Given the description of an element on the screen output the (x, y) to click on. 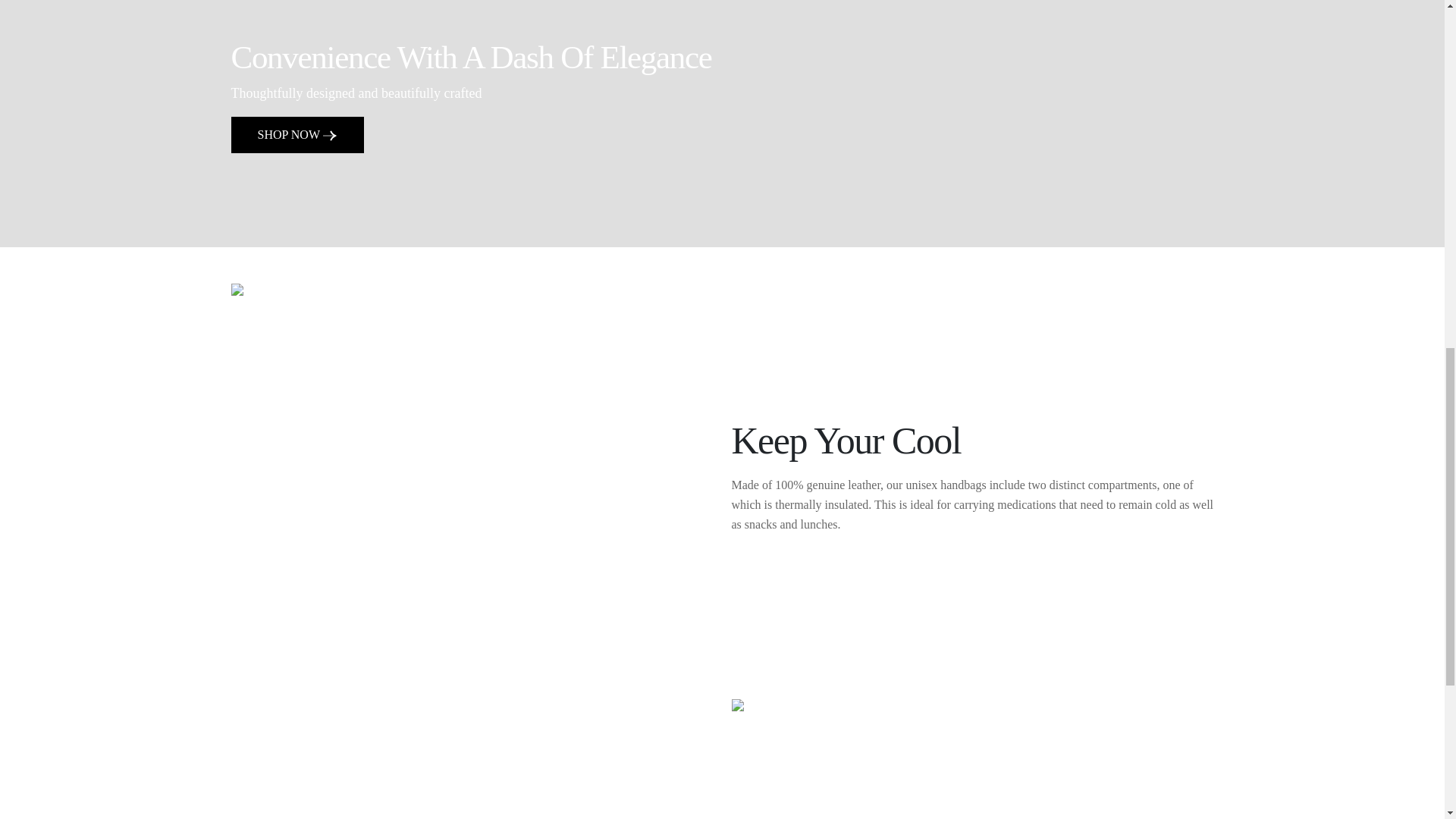
SHOP NOW (296, 135)
